Given the description of an element on the screen output the (x, y) to click on. 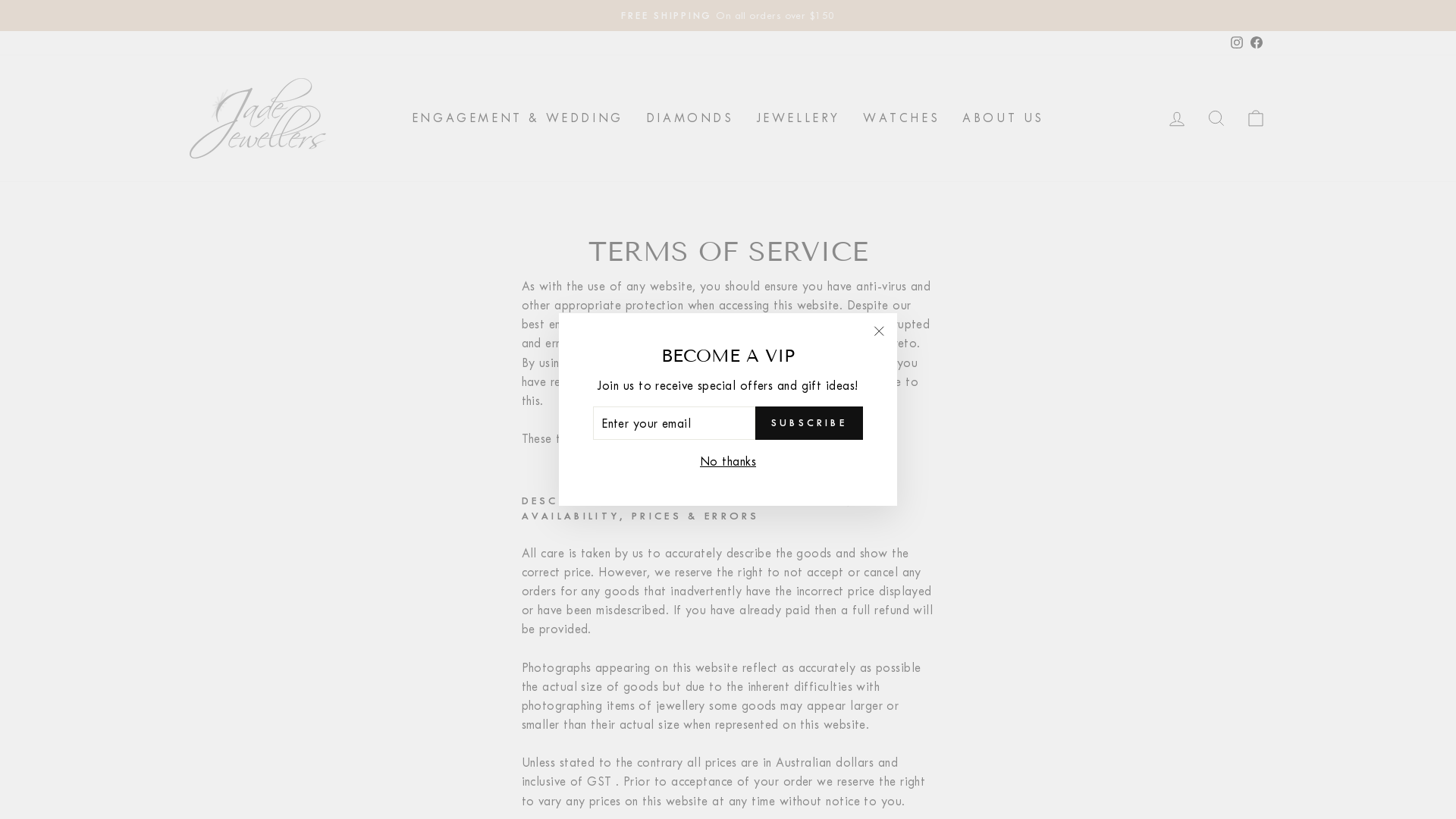
SEARCH Element type: text (1216, 117)
ABOUT US Element type: text (1002, 118)
Facebook Element type: text (1256, 42)
WATCHES Element type: text (900, 118)
SUBSCRIBE Element type: text (808, 422)
No thanks Element type: text (727, 461)
CART Element type: text (1255, 117)
Instagram Element type: text (1236, 42)
JEWELLERY Element type: text (798, 118)
"Close (esc)" Element type: text (878, 331)
LOG IN Element type: text (1176, 117)
DIAMONDS Element type: text (689, 118)
ENGAGEMENT & WEDDING Element type: text (517, 118)
Skip to content Element type: text (0, 0)
